Given the description of an element on the screen output the (x, y) to click on. 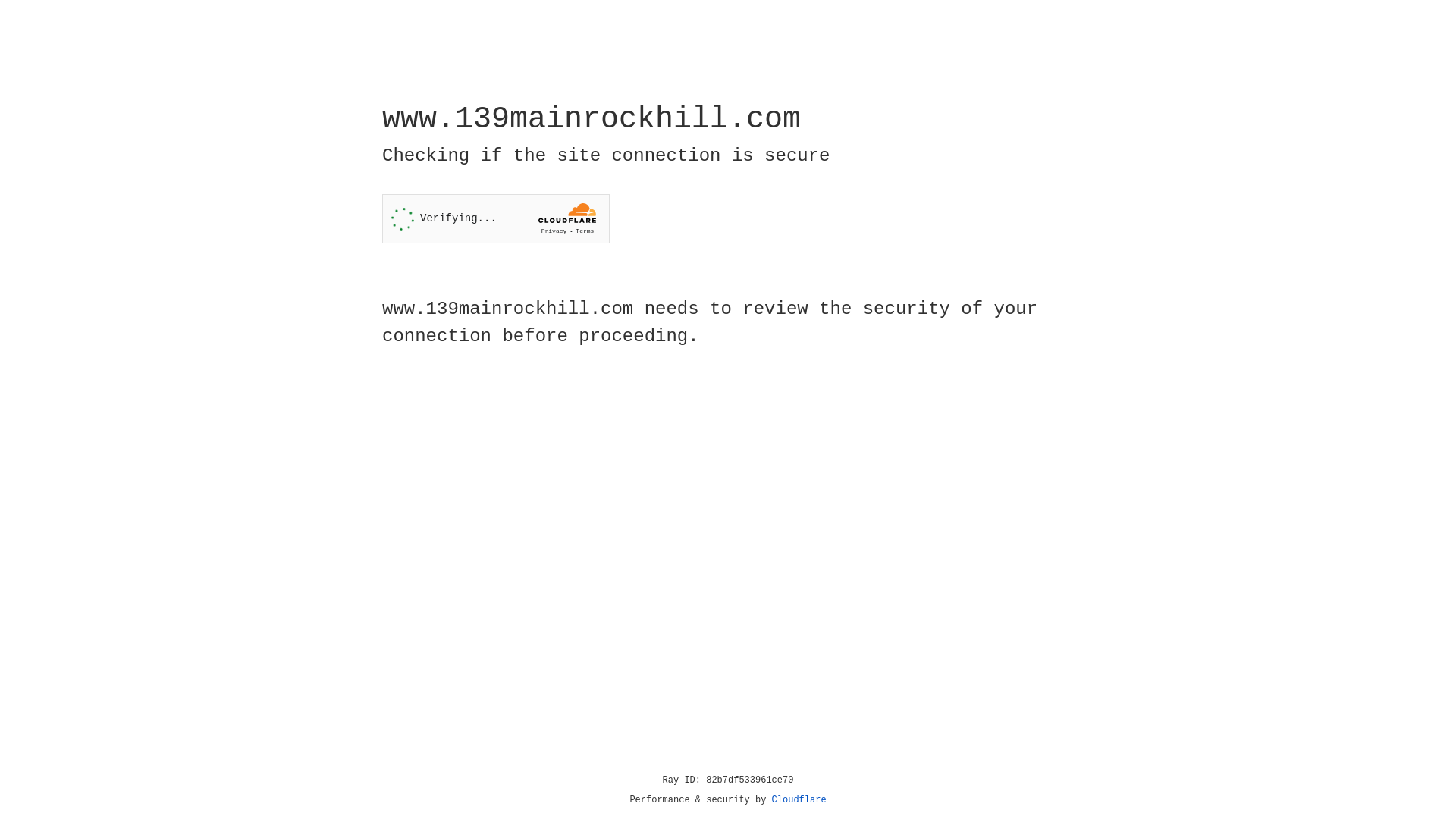
Cloudflare Element type: text (798, 799)
Widget containing a Cloudflare security challenge Element type: hover (495, 218)
